Given the description of an element on the screen output the (x, y) to click on. 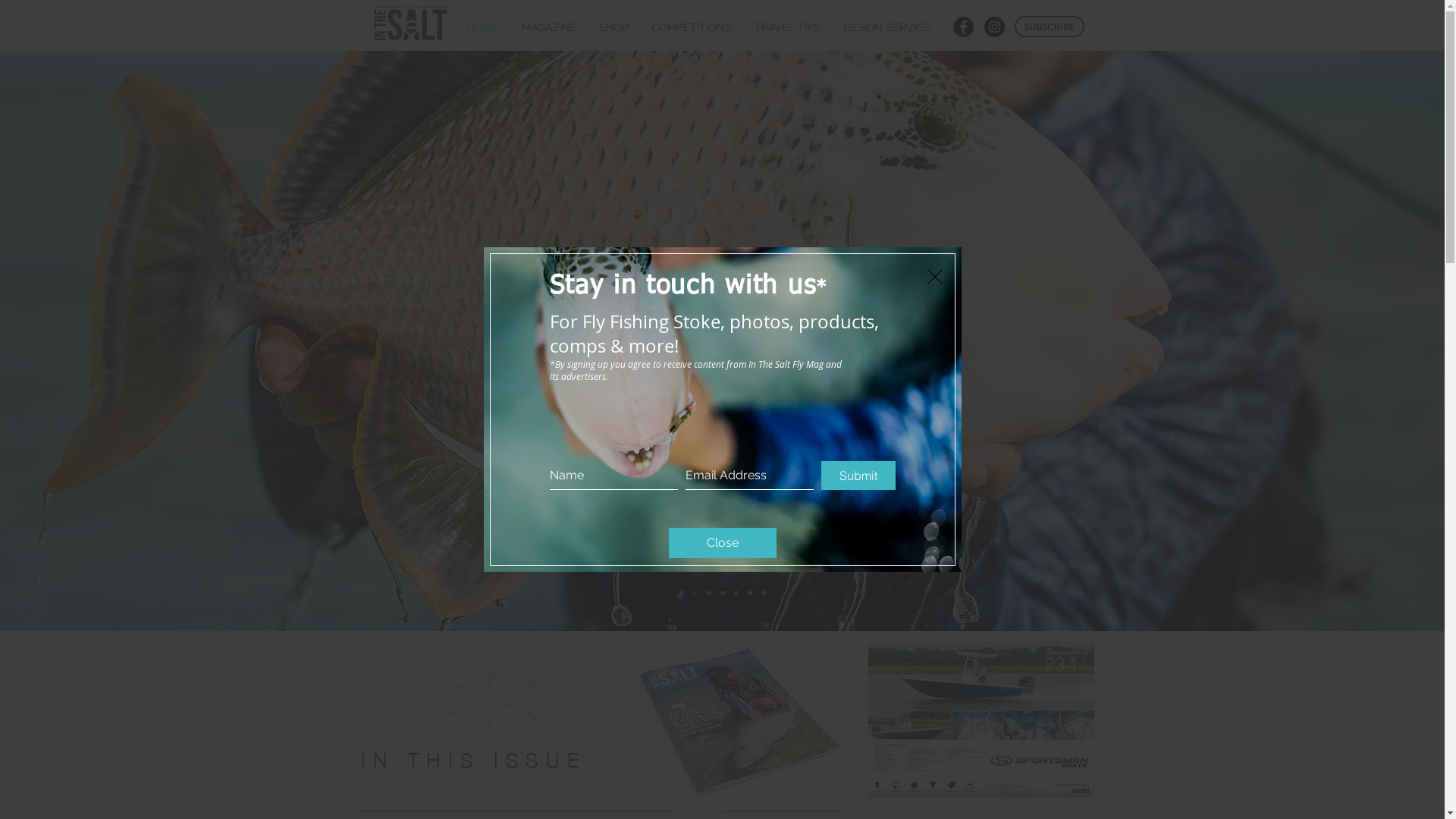
COMPETITIONS Element type: text (691, 27)
SHOP Element type: text (612, 27)
SUBSCRIBE Element type: text (1049, 26)
HOME Element type: text (482, 27)
DESIGN SERVICE Element type: text (886, 27)
TRAVEL TIPS Element type: text (787, 27)
MAGAZINE Element type: text (547, 27)
Submit Element type: text (857, 475)
Back to site Element type: hover (933, 276)
